Given the description of an element on the screen output the (x, y) to click on. 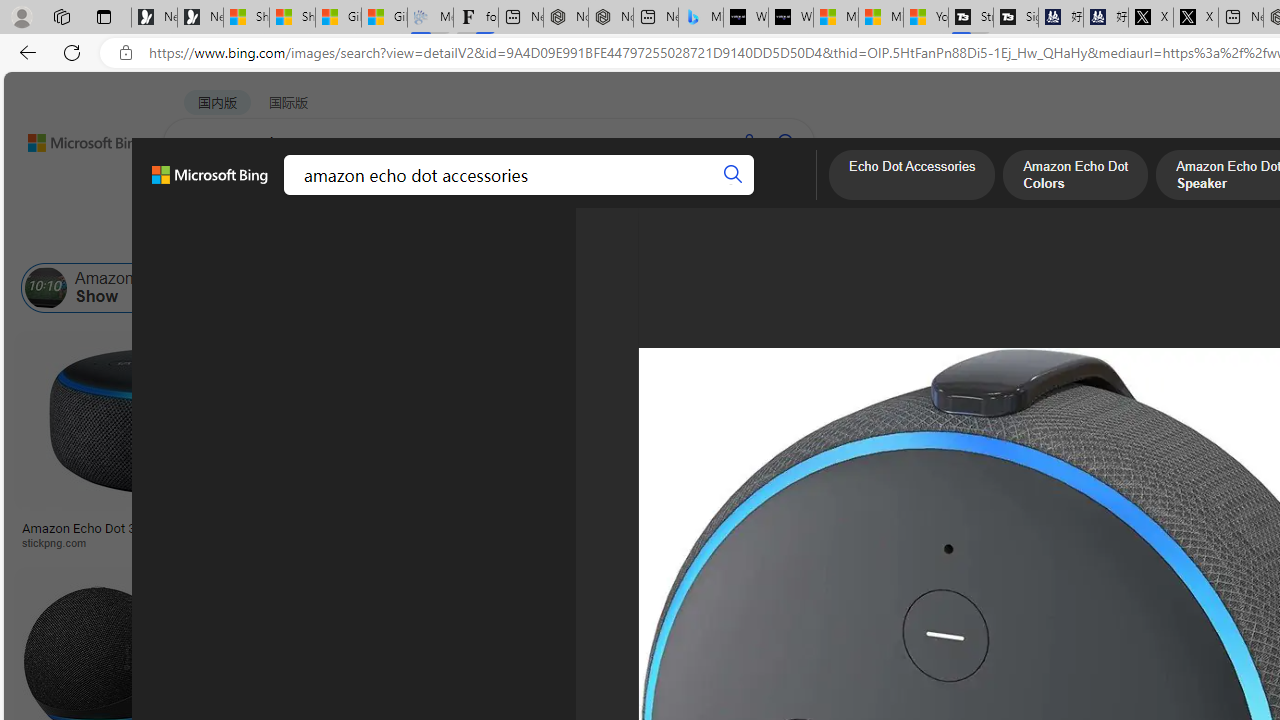
Color (305, 237)
Image size (221, 237)
Back to Bing search (73, 138)
Type (372, 237)
Amazon Echo Dot 4th Gen (995, 400)
Amazon Echo Dot PNG transparente - StickPNG (615, 534)
Amazon Alexa Echo (283, 287)
Amazon Echo Dot 3rd (575, 287)
DICT (630, 195)
Amazon Echo Show (45, 287)
